Given the description of an element on the screen output the (x, y) to click on. 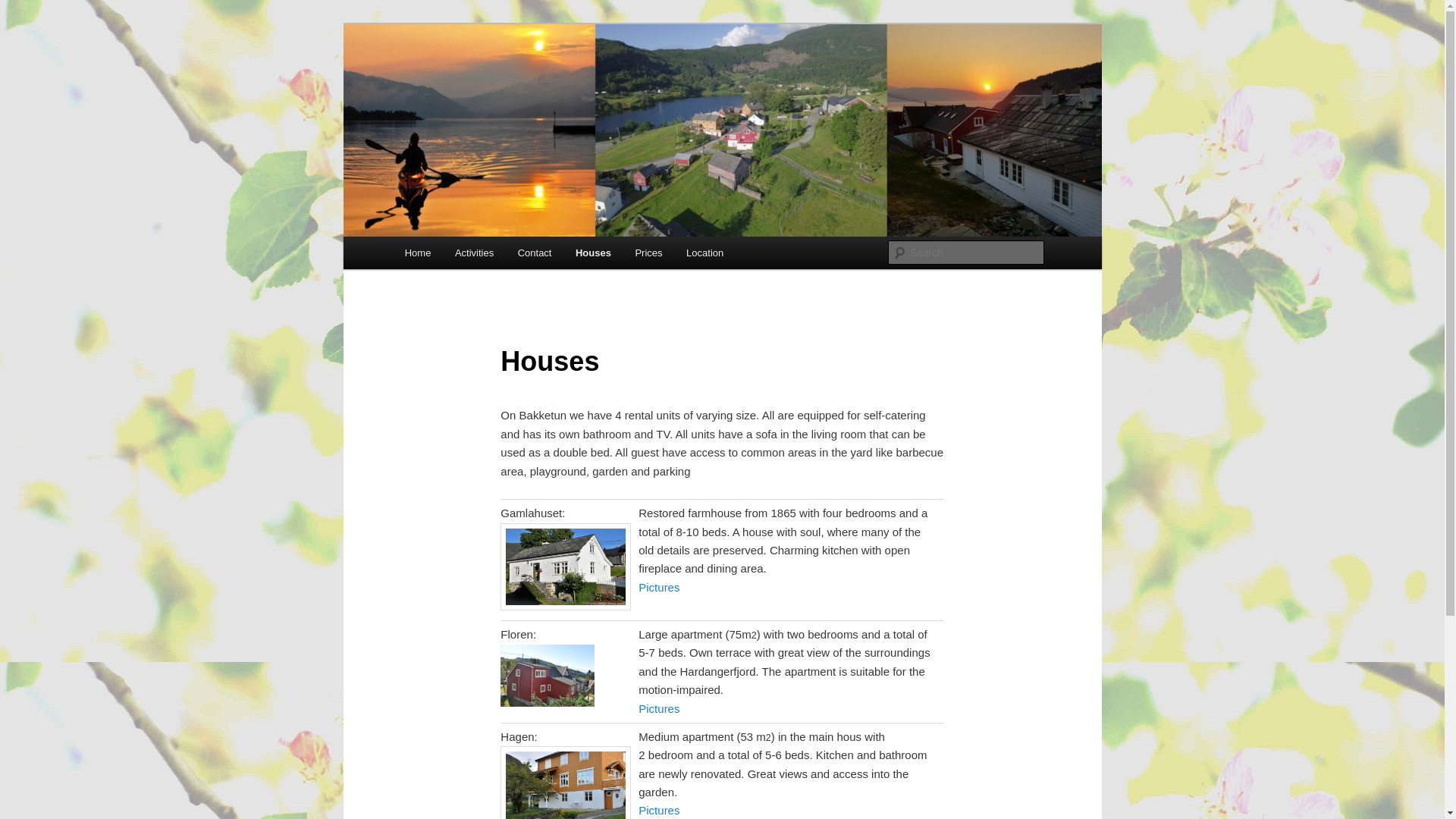
Pictures (659, 707)
Location (704, 252)
Contact (534, 252)
Bakketun Overnatting (518, 78)
more pictures (659, 809)
Prices (649, 252)
Activities (473, 252)
Pictures (659, 809)
Pictures (659, 586)
Search (24, 8)
more pictures (659, 707)
Home (417, 252)
Houses (593, 252)
